Given the description of an element on the screen output the (x, y) to click on. 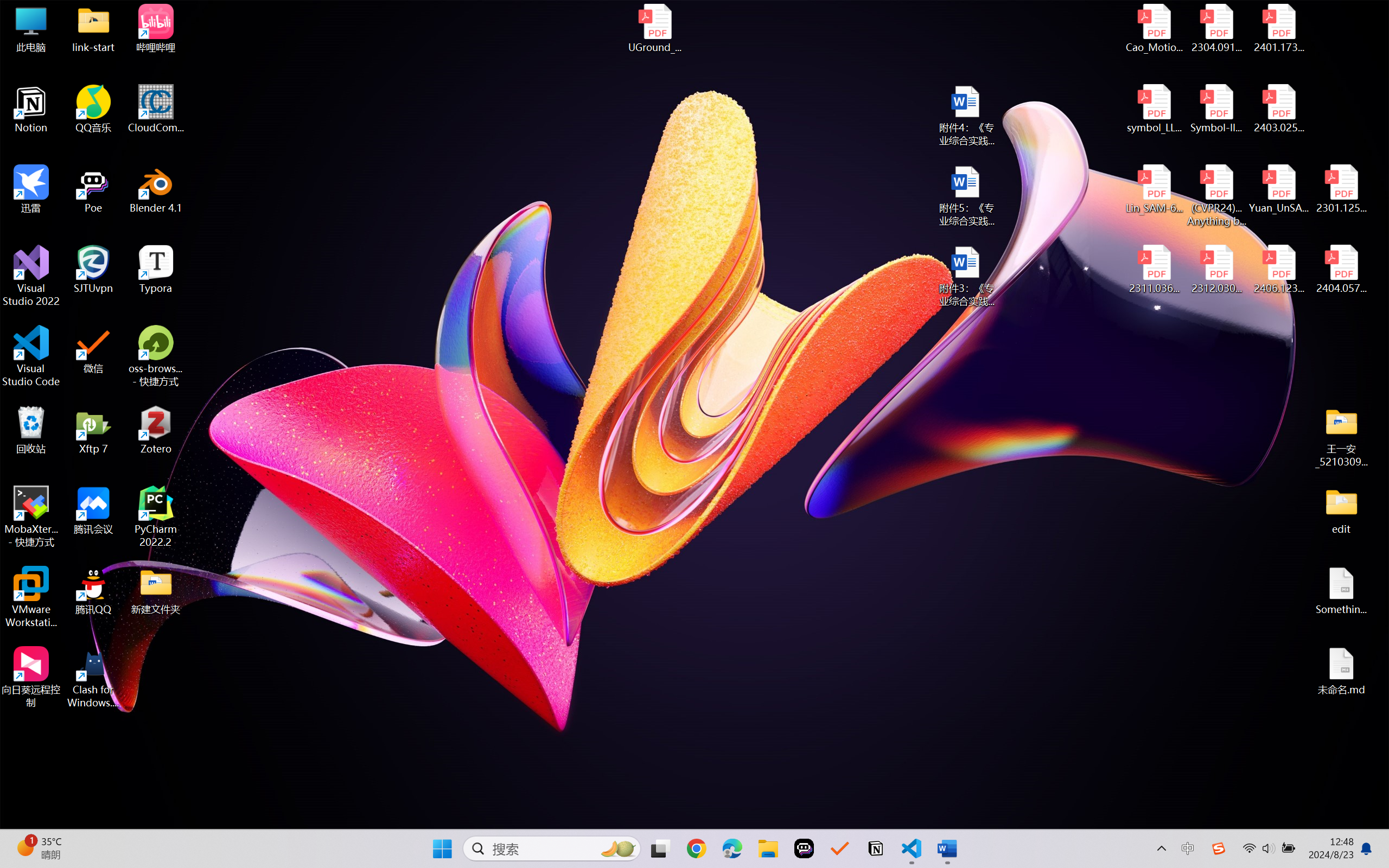
Symbol-llm-v2.pdf (1216, 109)
PyCharm 2022.2 (156, 516)
CloudCompare (156, 109)
2304.09121v3.pdf (1216, 28)
UGround_paper.pdf (654, 28)
Microsoft Edge (731, 848)
